Given the description of an element on the screen output the (x, y) to click on. 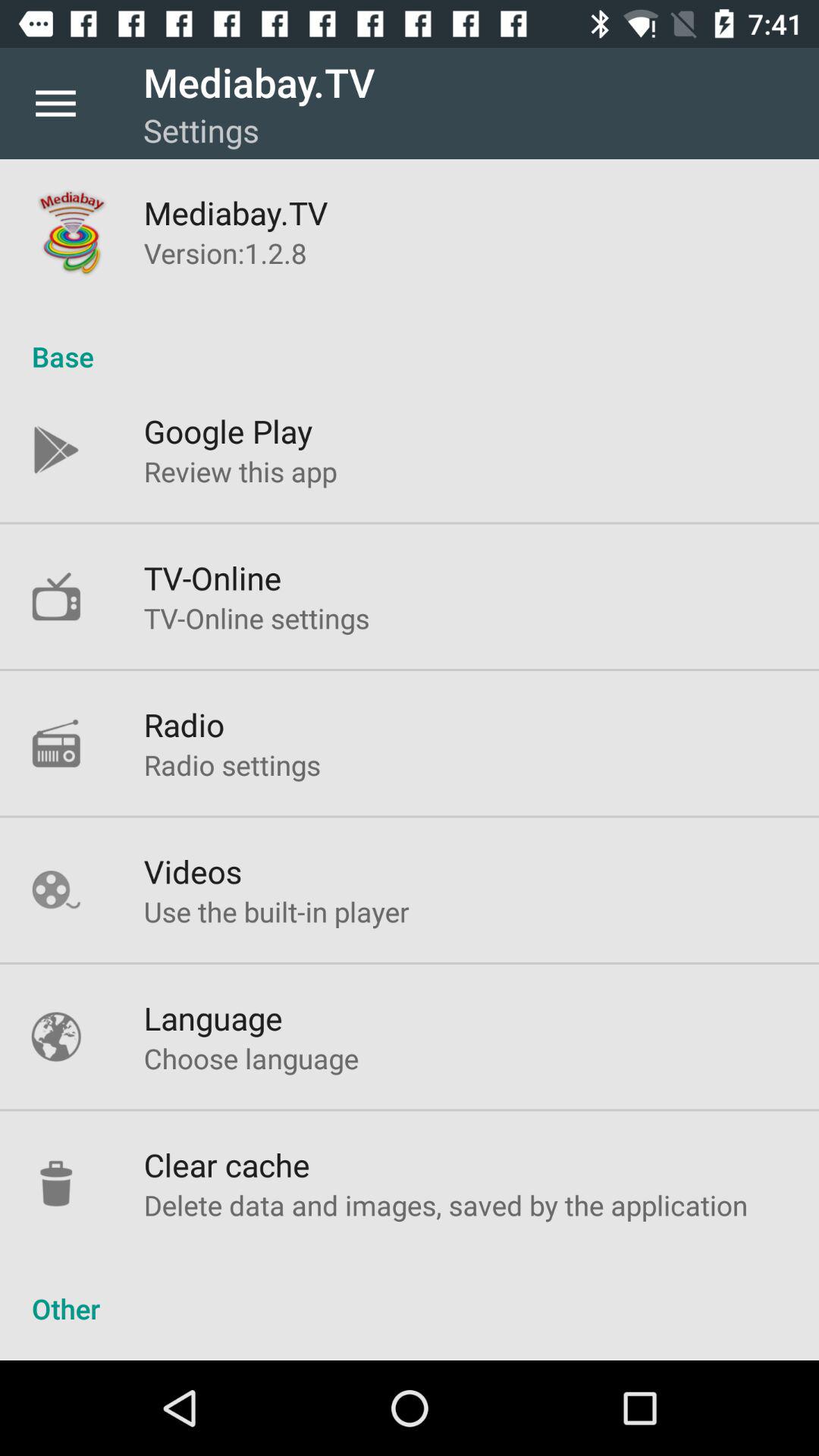
select item below radio settings item (192, 870)
